Given the description of an element on the screen output the (x, y) to click on. 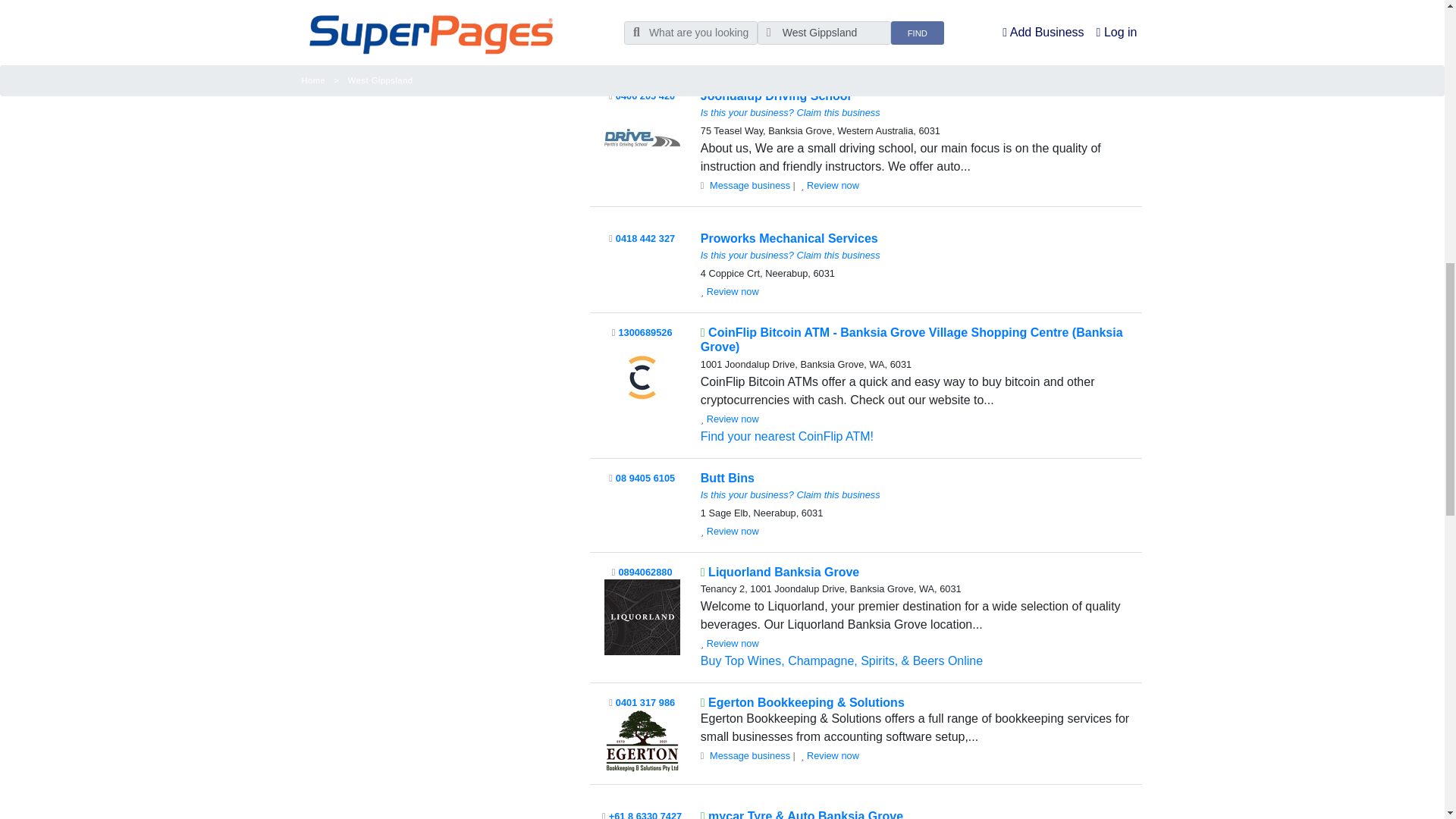
Advertisement (433, 13)
